Given the description of an element on the screen output the (x, y) to click on. 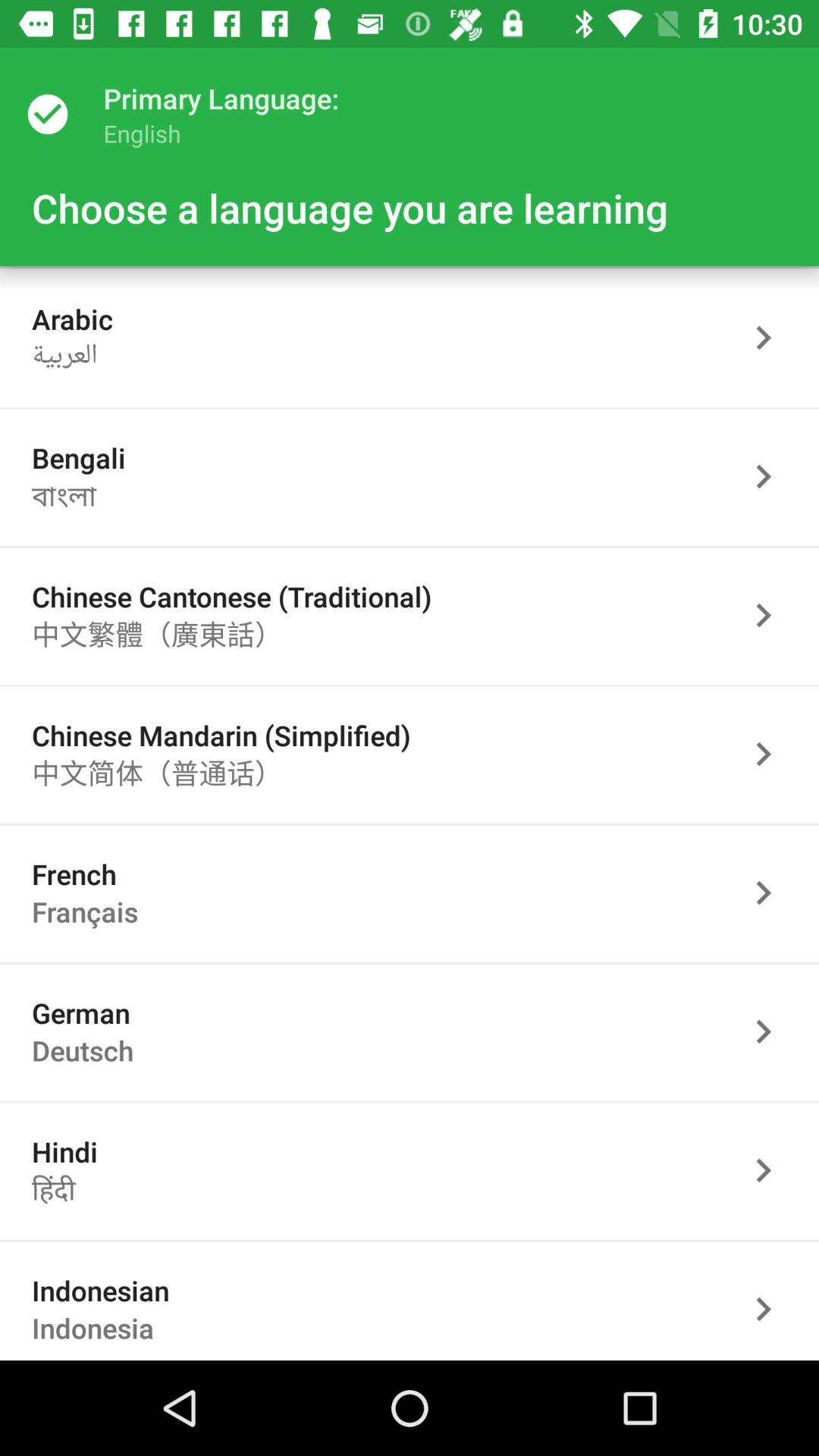
select language button (771, 1306)
